Given the description of an element on the screen output the (x, y) to click on. 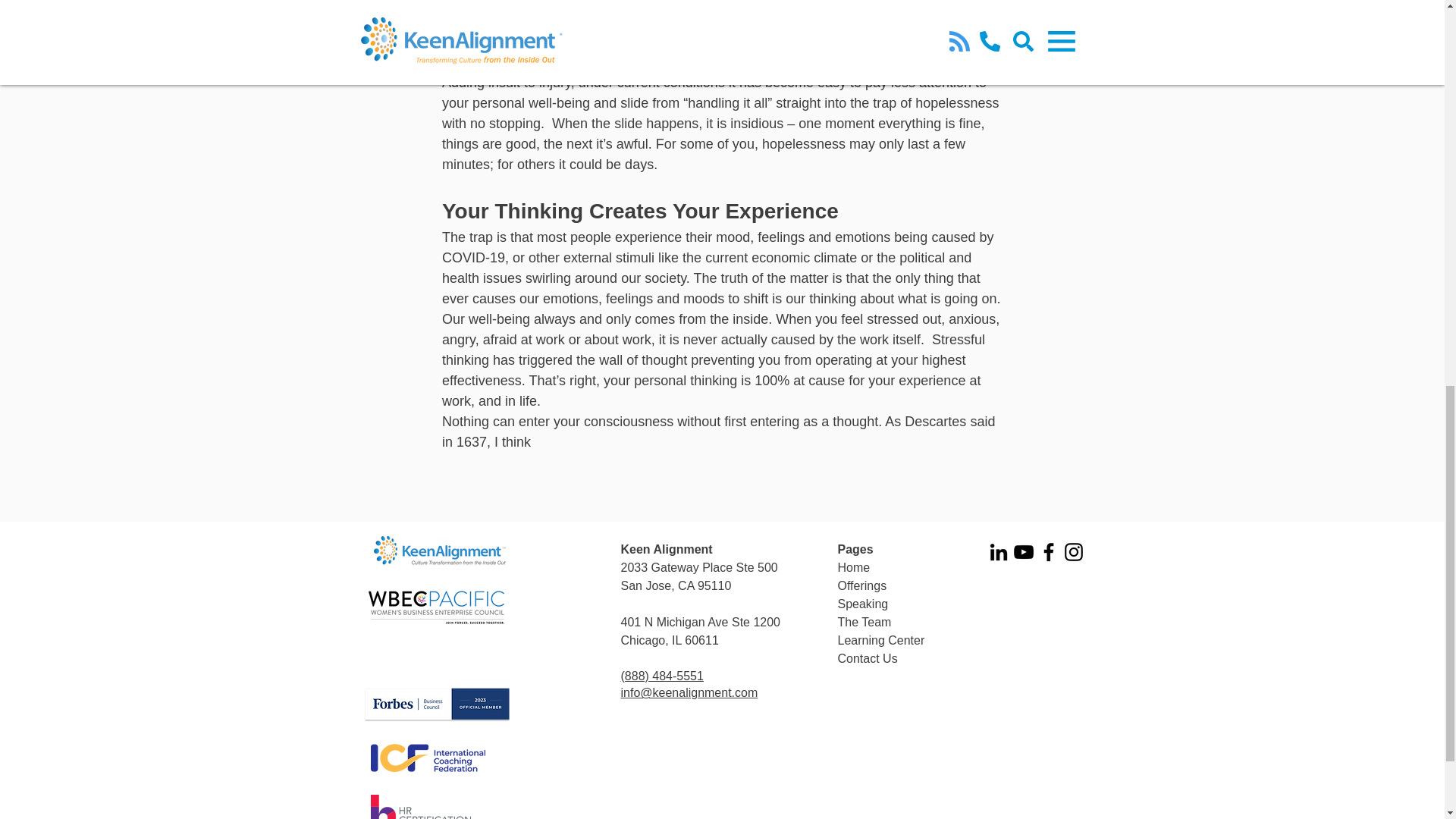
Home (853, 567)
The Team (864, 621)
Learning Center (880, 640)
Contact Us (866, 658)
FBC-Signature.png (437, 704)
Speaking (862, 603)
Offerings (861, 585)
